Given the description of an element on the screen output the (x, y) to click on. 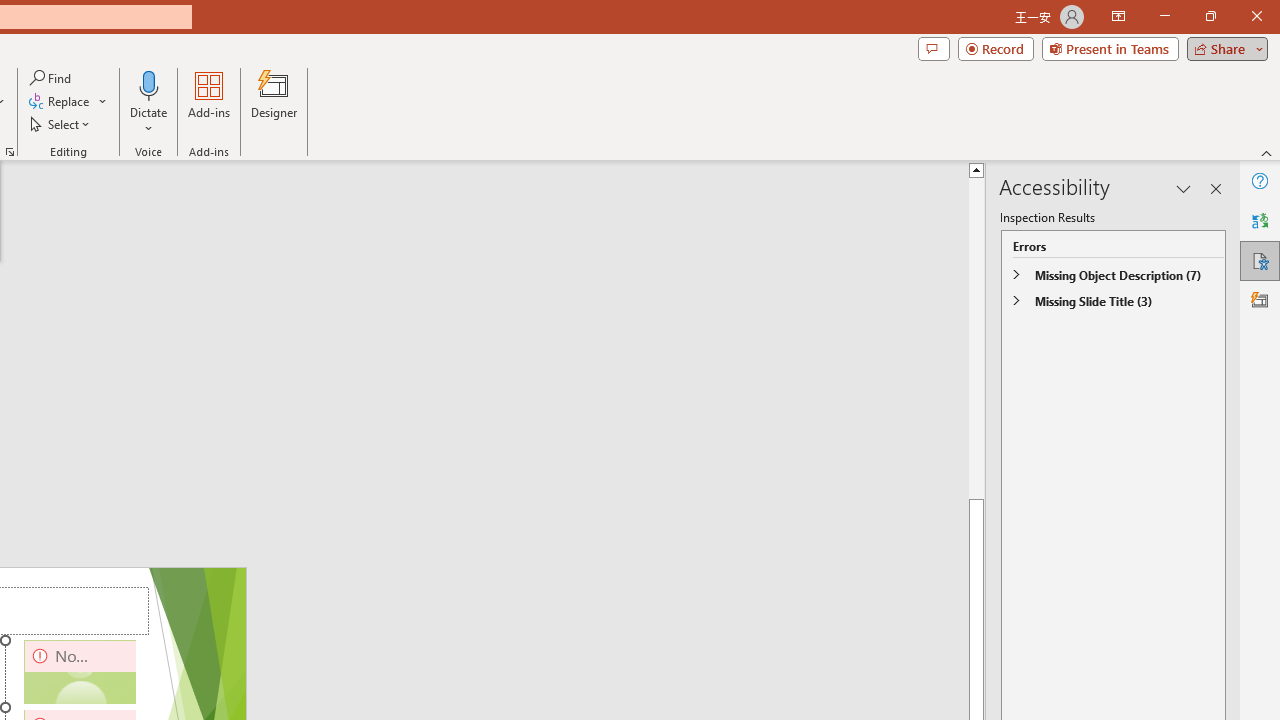
Camera 5, No camera detected. (80, 672)
